Given the description of an element on the screen output the (x, y) to click on. 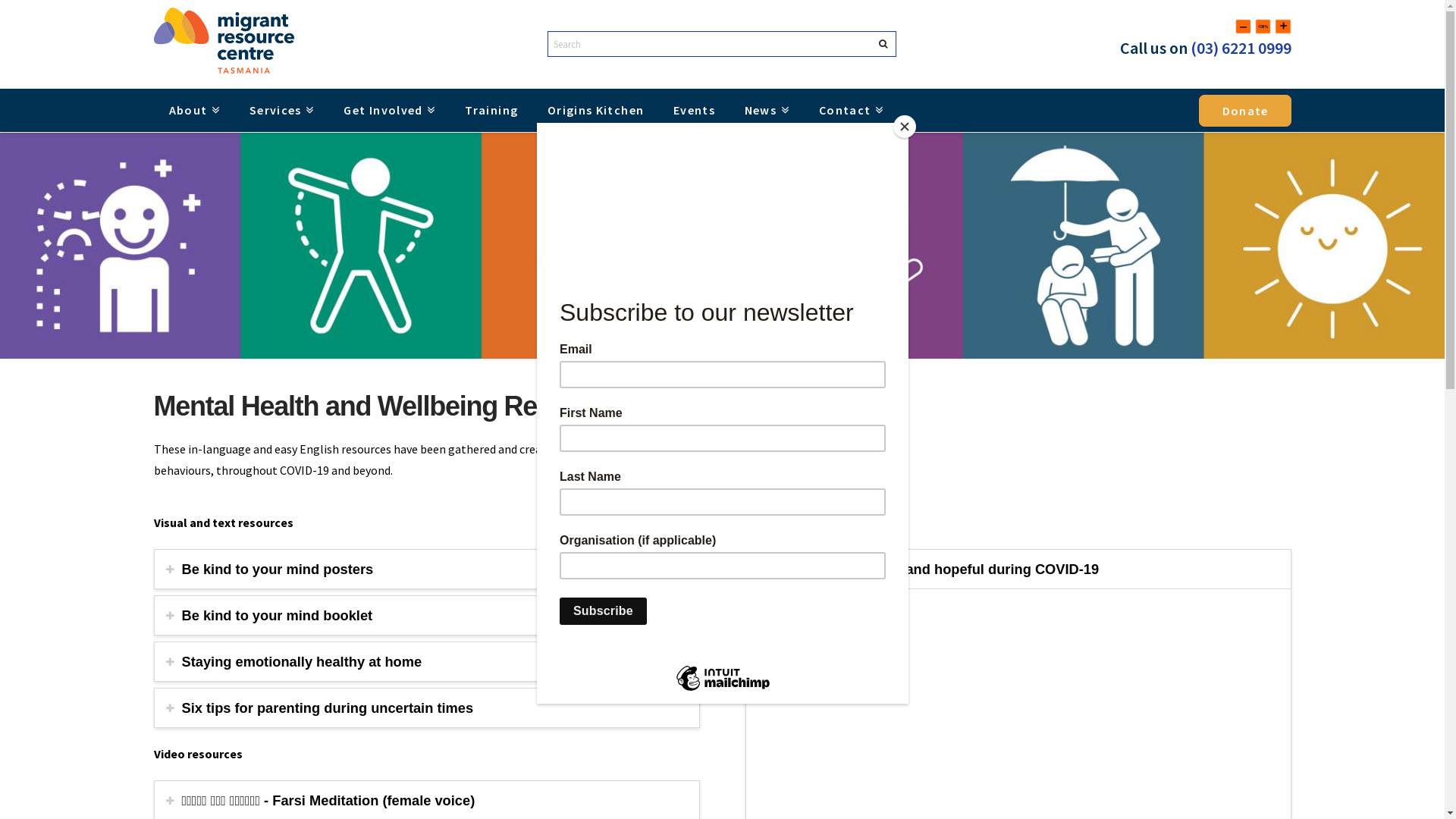
Six tips for parenting during uncertain times Element type: text (426, 707)
Donate Element type: text (1244, 110)
Contact Element type: text (850, 109)
Ways to stay happy and hopeful during COVID-19 Element type: text (1018, 568)
Origins Kitchen Element type: text (595, 109)
Be kind to your mind booklet Element type: text (426, 615)
News Element type: text (766, 109)
Get Involved Element type: text (388, 109)
Be kind to your mind posters Element type: text (426, 568)
Training Element type: text (490, 109)
Services Element type: text (281, 109)
Staying emotionally healthy at home Element type: text (426, 661)
(03) 6221 0999 Element type: text (1240, 47)
About Element type: text (193, 109)
Events Element type: text (693, 109)
